Given the description of an element on the screen output the (x, y) to click on. 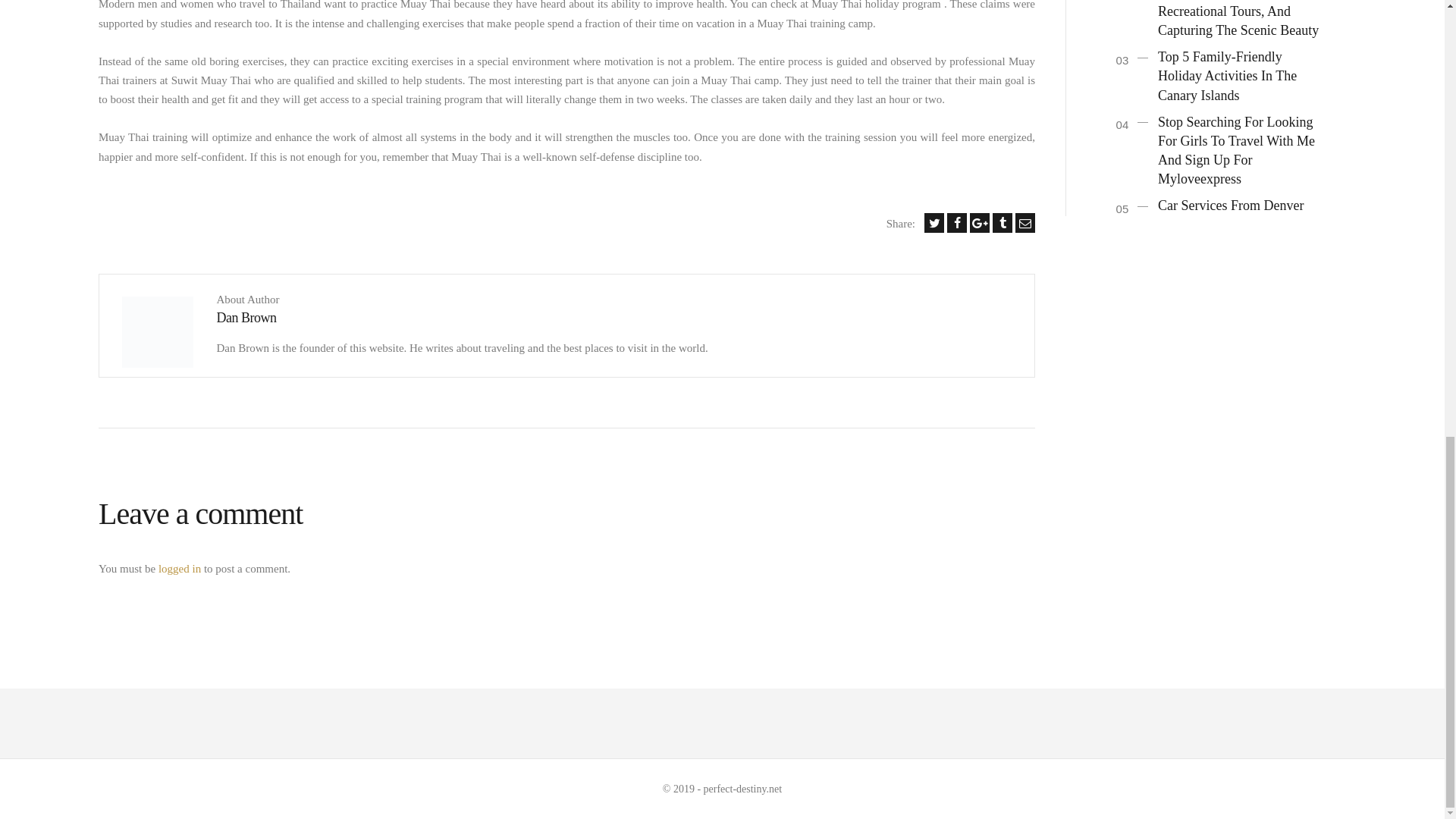
Car Services From Denver (1230, 205)
logged in (179, 568)
